Given the description of an element on the screen output the (x, y) to click on. 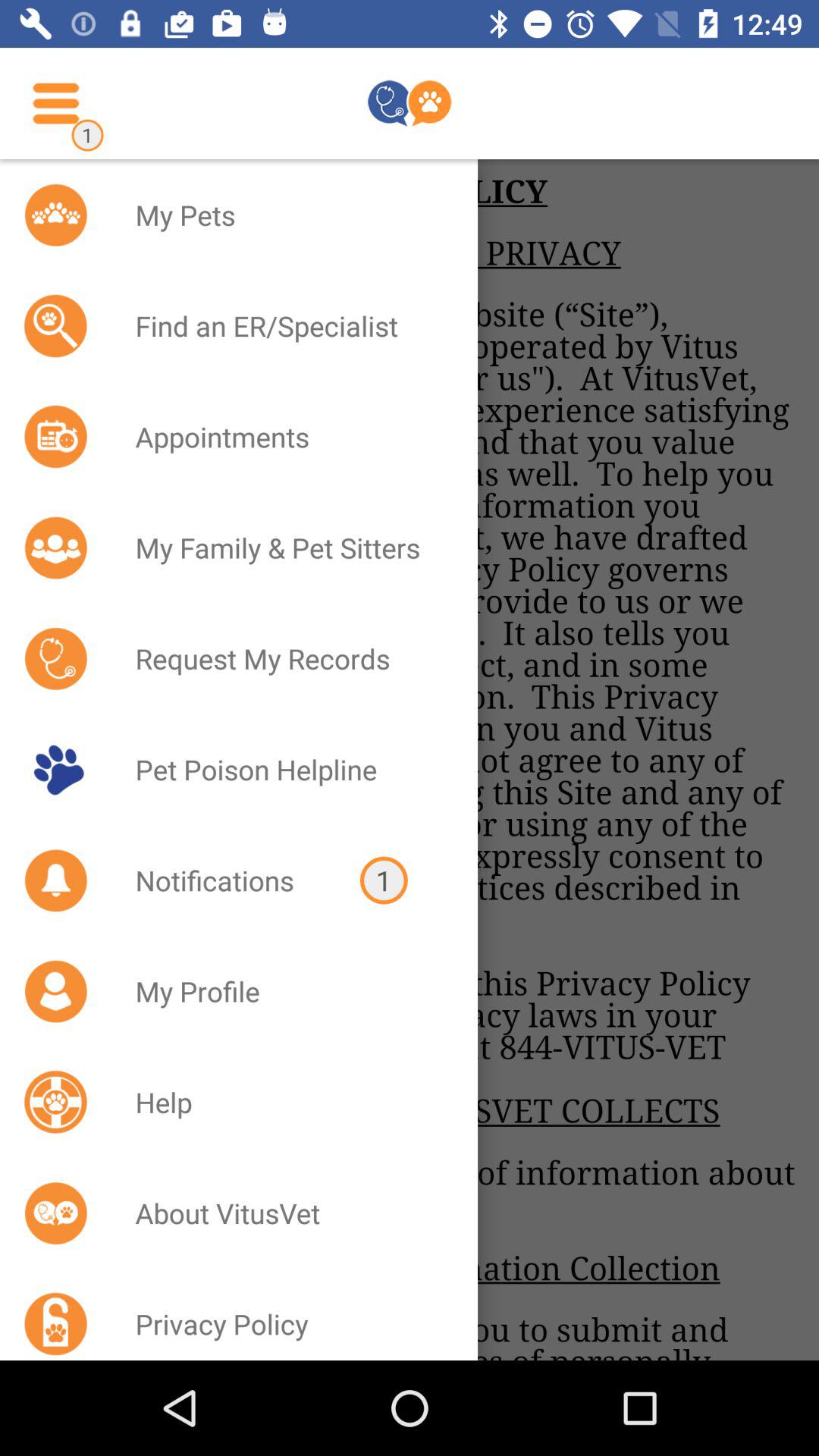
tap appointments (286, 436)
